Given the description of an element on the screen output the (x, y) to click on. 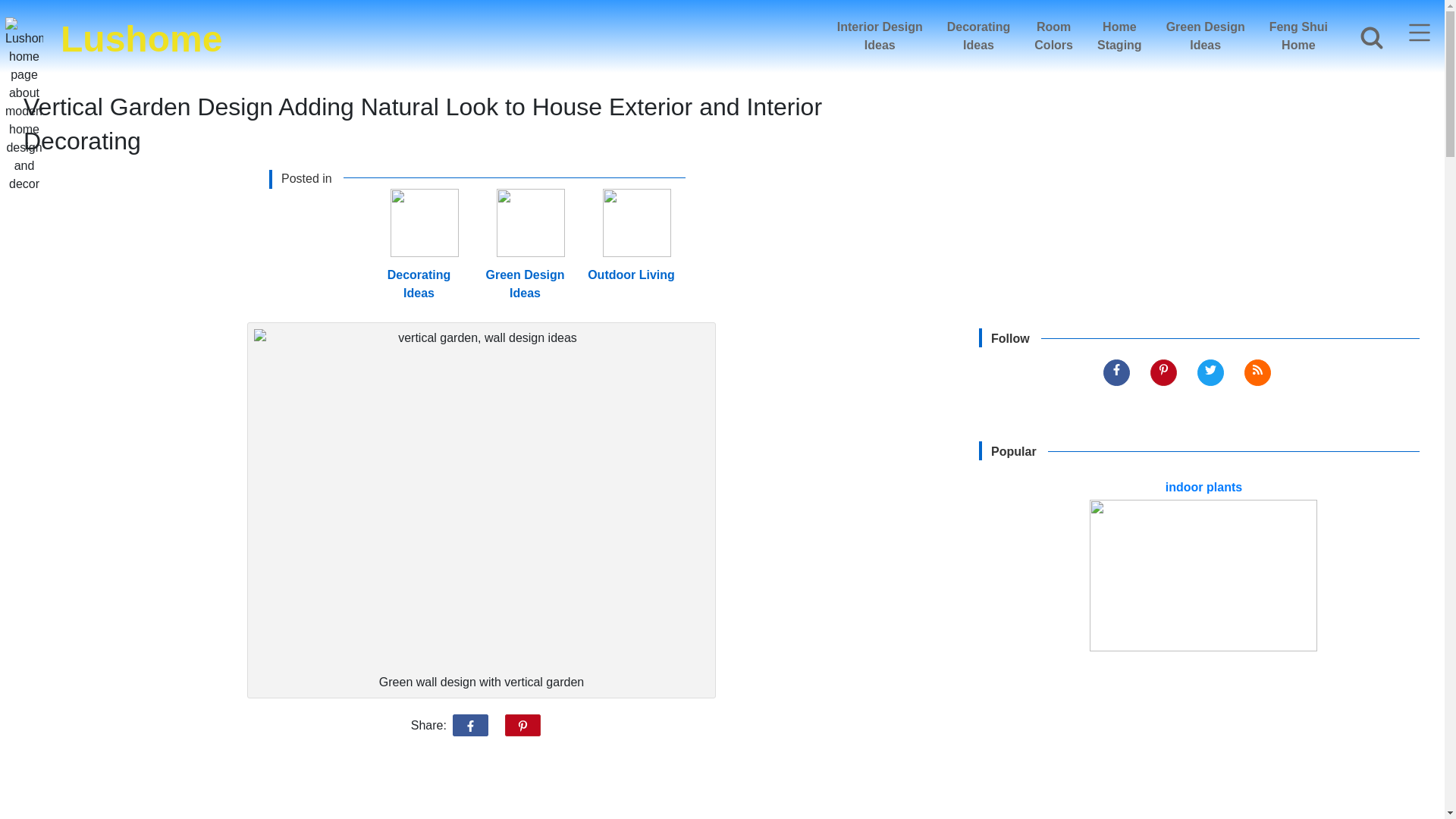
Lushome (879, 36)
